Given the description of an element on the screen output the (x, y) to click on. 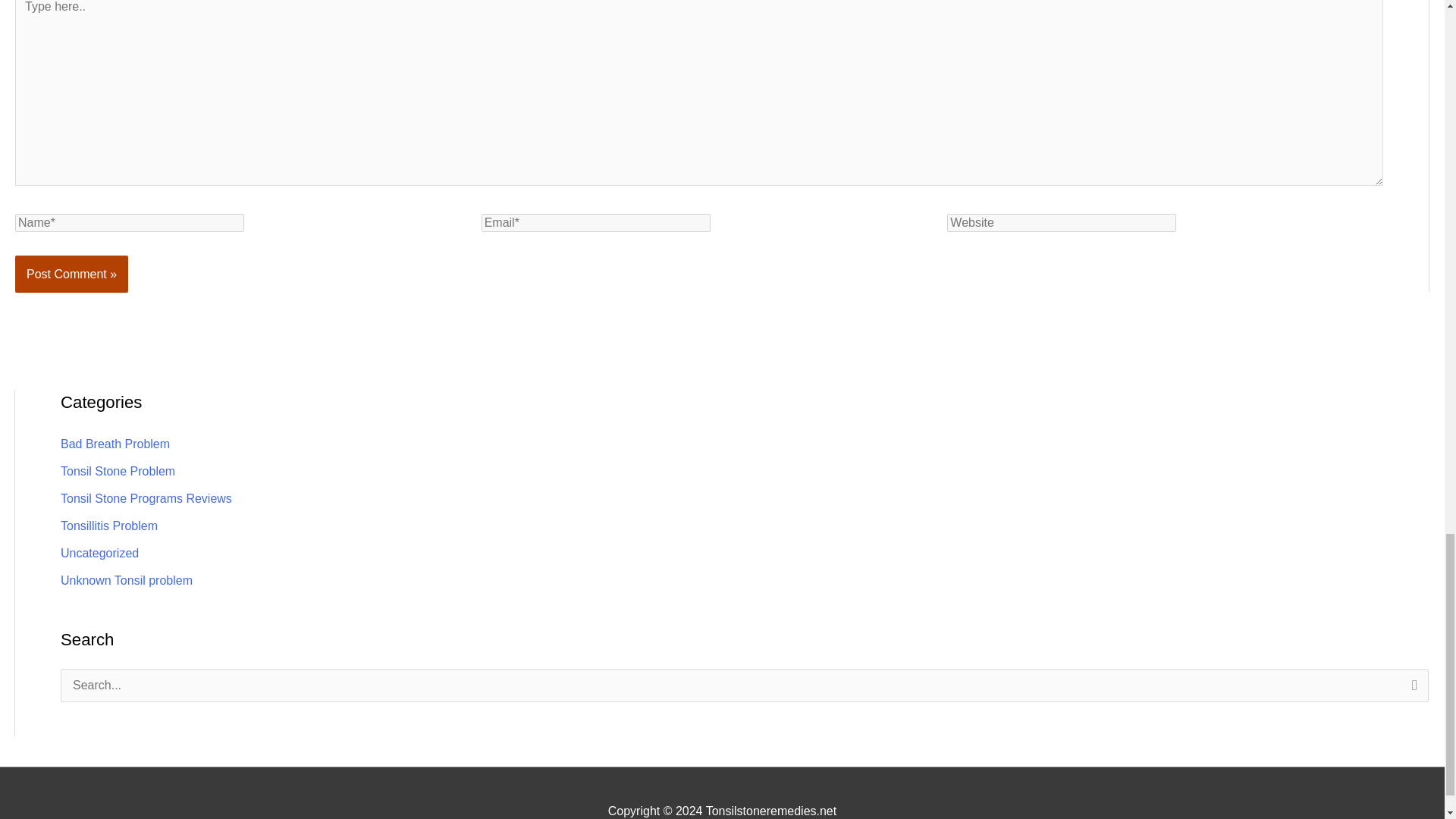
Tonsillitis Problem (109, 525)
Unknown Tonsil problem (126, 580)
Tonsil Stone Programs Reviews (146, 498)
Bad Breath Problem (115, 443)
Uncategorized (99, 553)
Tonsil Stone Problem (117, 471)
